Given the description of an element on the screen output the (x, y) to click on. 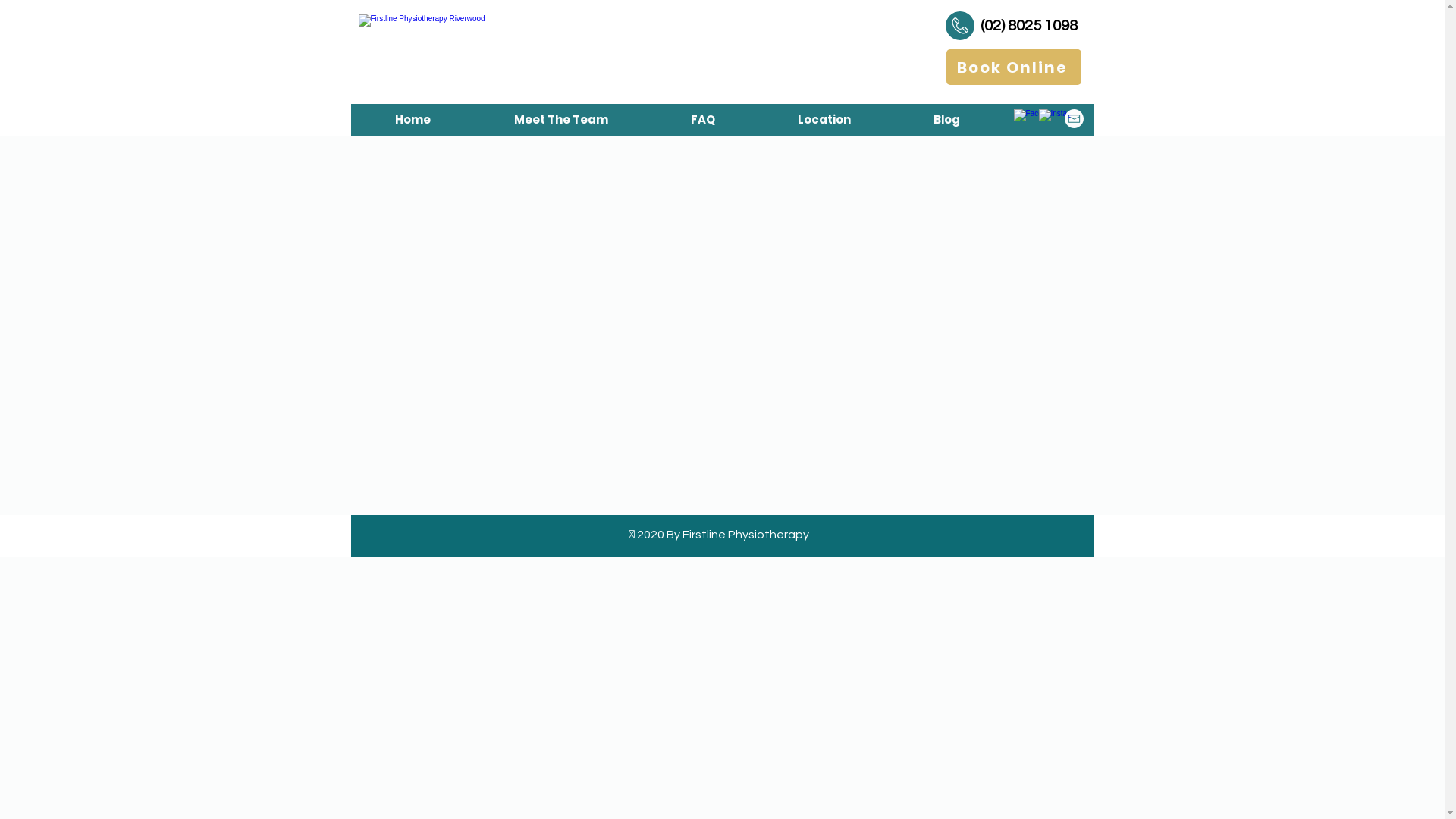
Meet The Team Element type: text (560, 118)
Book Online Element type: text (1013, 66)
FAQ Element type: text (702, 118)
Location Element type: text (824, 118)
Blog Element type: text (946, 118)
Home Element type: text (412, 118)
